Given the description of an element on the screen output the (x, y) to click on. 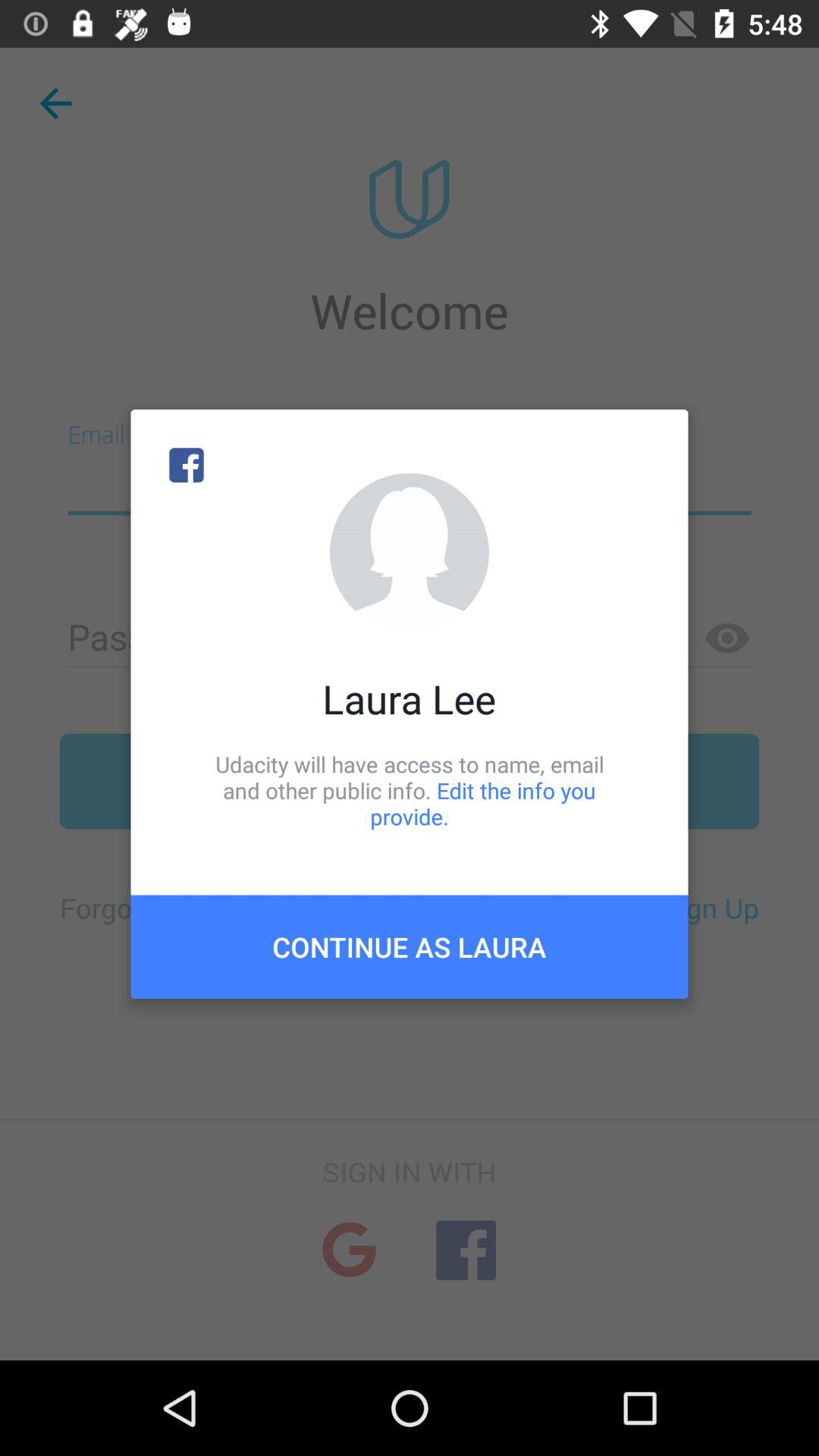
press the udacity will have (409, 790)
